Given the description of an element on the screen output the (x, y) to click on. 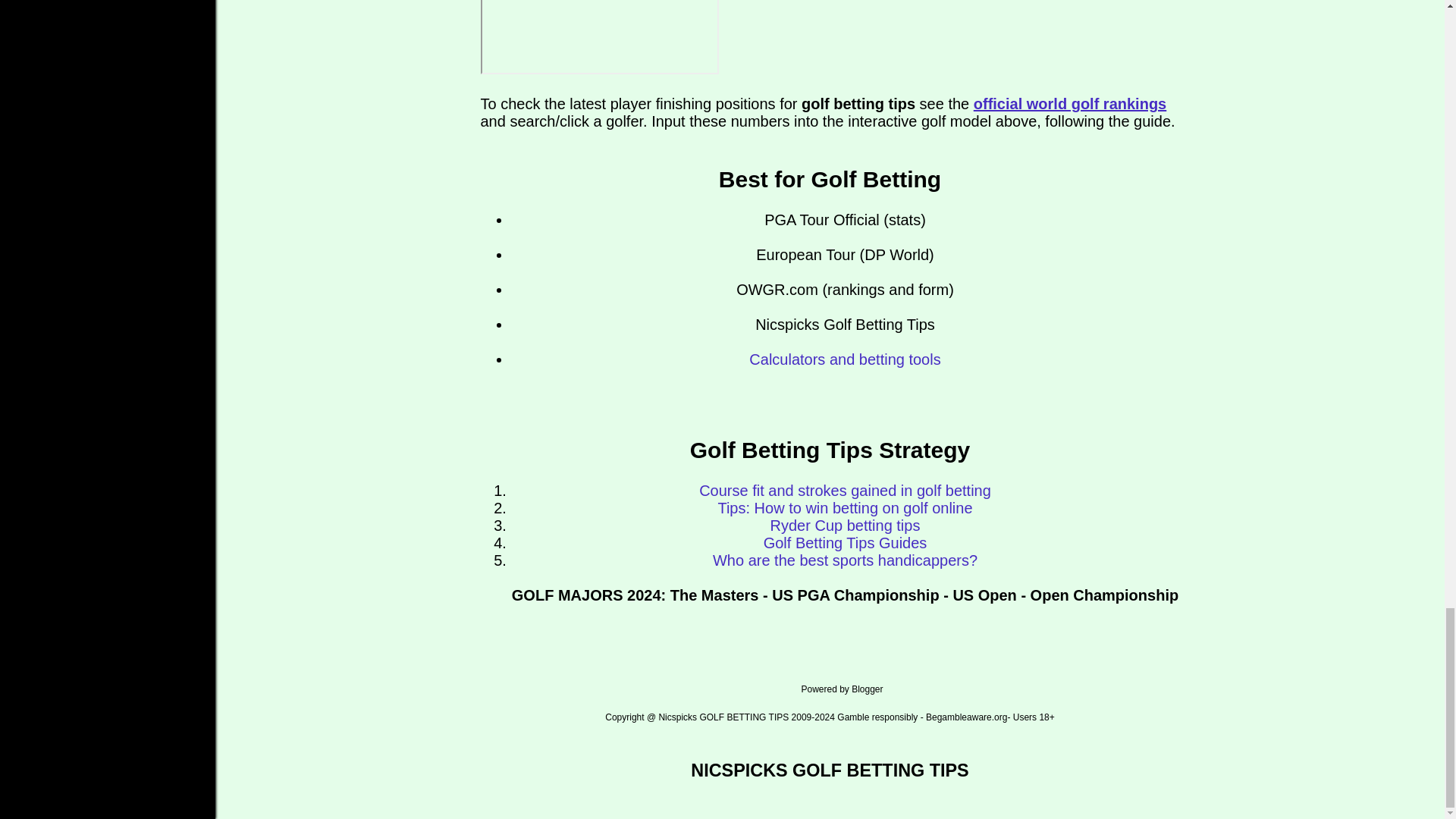
official world golf rankings (1070, 103)
Who are the best sports handicappers? (844, 560)
Golf Betting Tips Guides (844, 542)
Ryder Cup betting tips (845, 524)
Tips: How to win betting on golf online (844, 507)
Calculators and betting tools (844, 359)
Course fit and strokes gained in golf betting (844, 490)
